Given the description of an element on the screen output the (x, y) to click on. 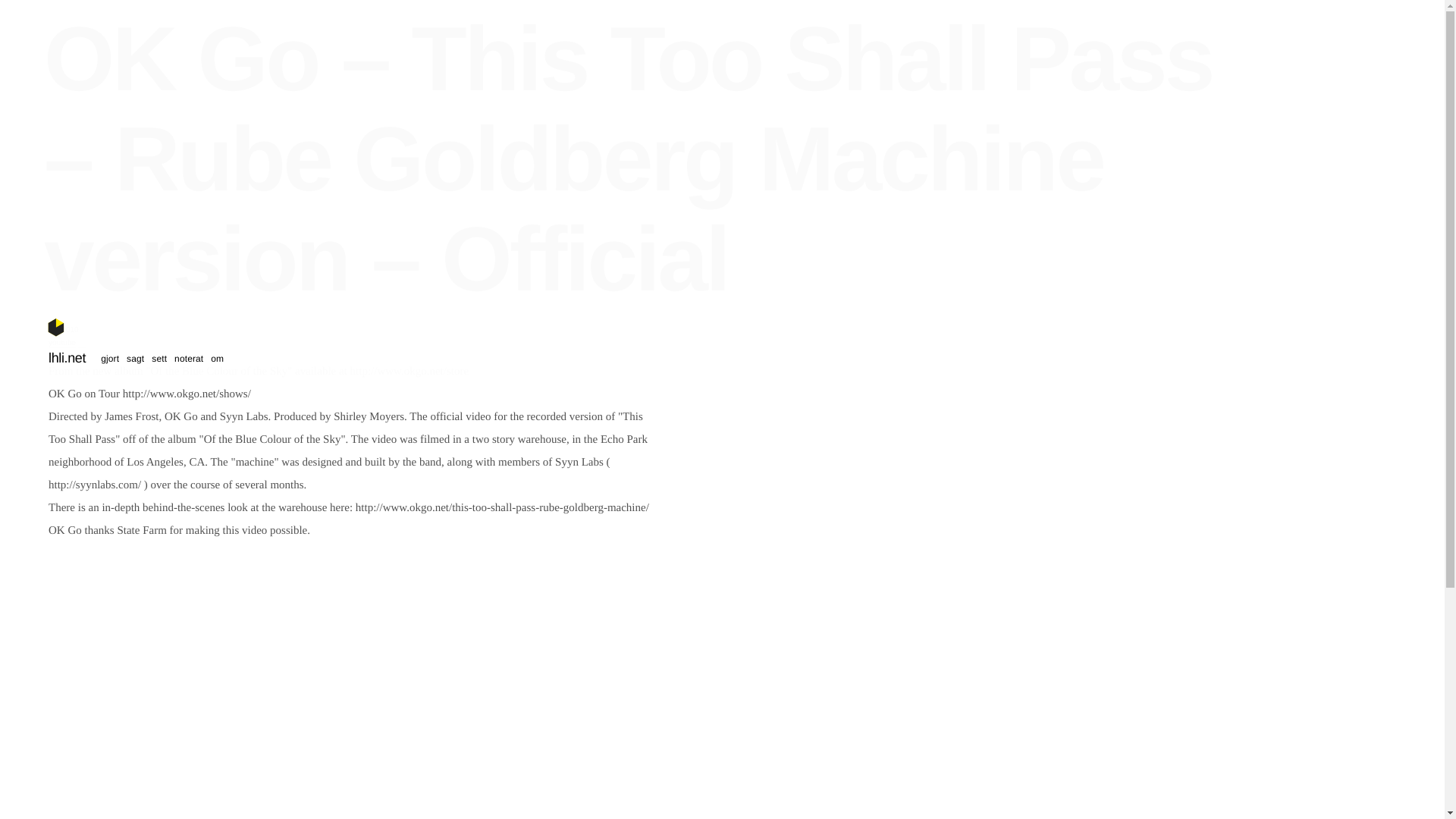
om (217, 357)
lhli.net (66, 357)
m (609, 358)
c (510, 358)
k (326, 358)
sett (159, 357)
b (376, 358)
noterat (188, 357)
y (392, 358)
r (343, 358)
